Given the description of an element on the screen output the (x, y) to click on. 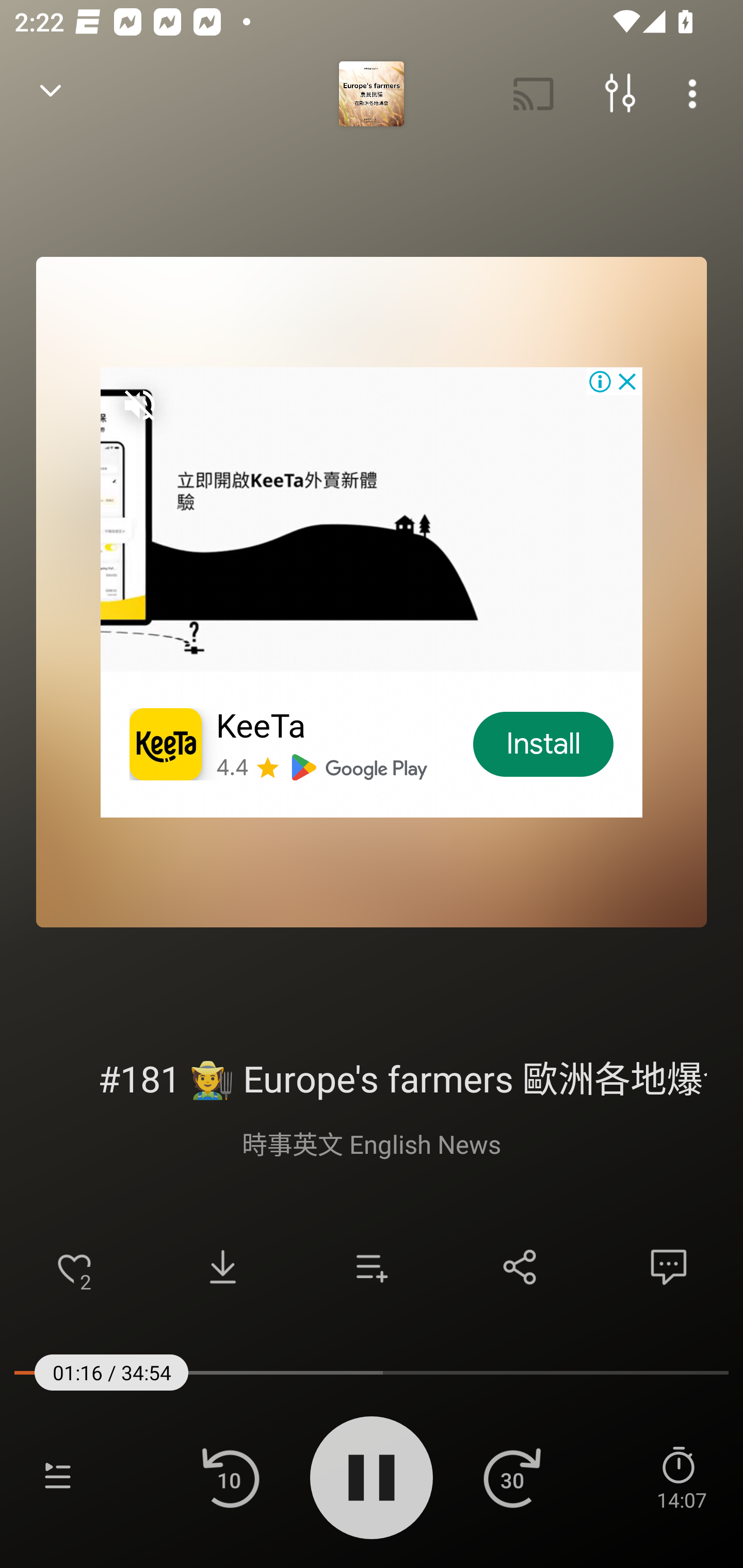
Cast. Disconnected (533, 93)
 Back (50, 94)
KeeTa 4.4 Install Install (371, 591)
Install (543, 743)
#181 🧑‍🌾 Europe's farmers 歐洲各地爆發農民抗議 (371, 1076)
時事英文 English News (371, 1142)
Comments (668, 1266)
Add to Favorites (73, 1266)
Share (519, 1266)
Sleep Timer  14:07 (681, 1477)
 Playlist (57, 1477)
